Given the description of an element on the screen output the (x, y) to click on. 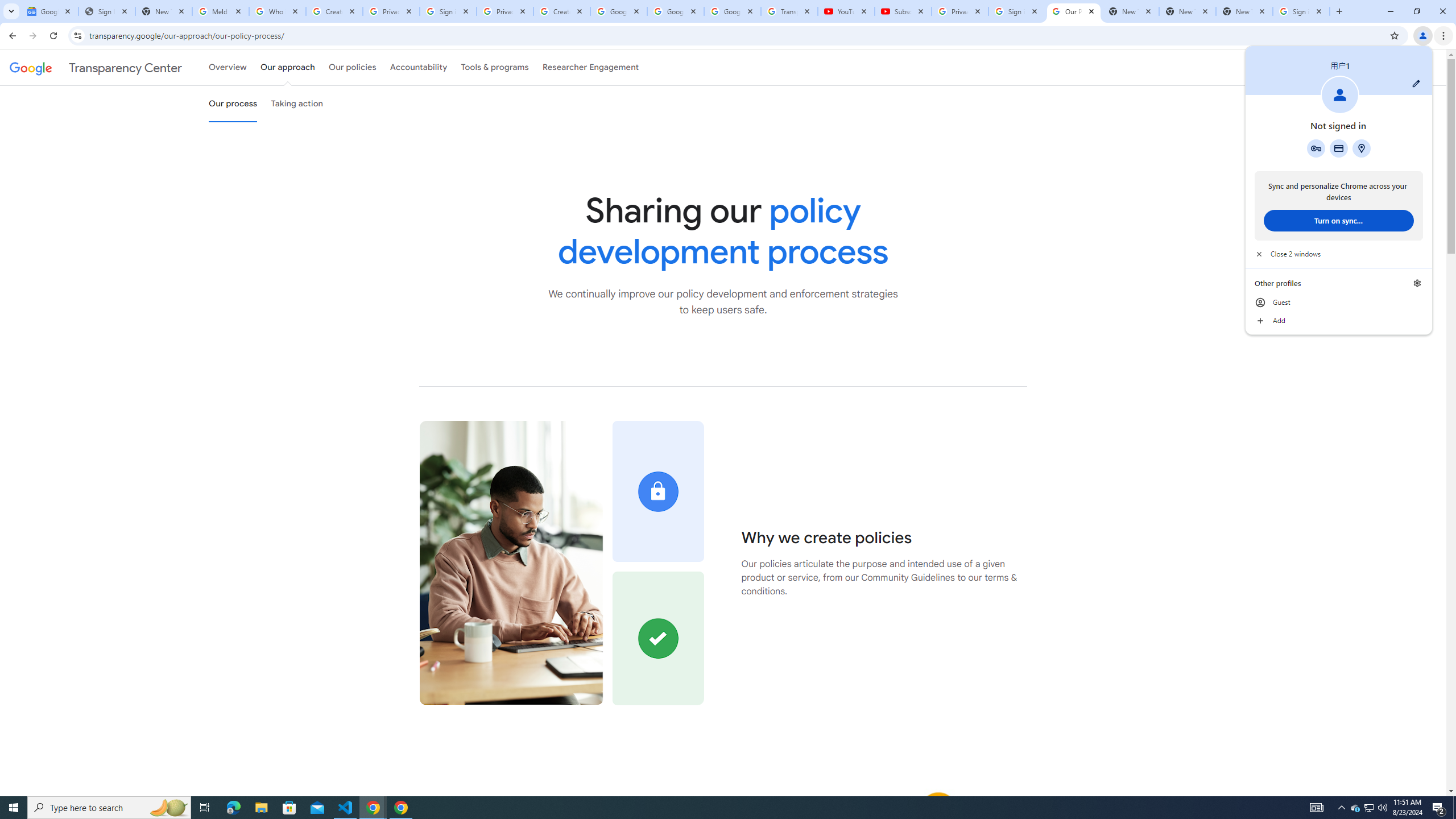
Payment methods (1338, 148)
Microsoft Store (289, 807)
Close 2 windows (1338, 253)
User Promoted Notification Area (1368, 807)
Taking action (296, 103)
Our approach (287, 67)
Search highlights icon opens search home window (167, 807)
Tools & programs (1355, 807)
Q2790: 100% (494, 67)
New Tab (1382, 807)
Customize profile (1244, 11)
